Given the description of an element on the screen output the (x, y) to click on. 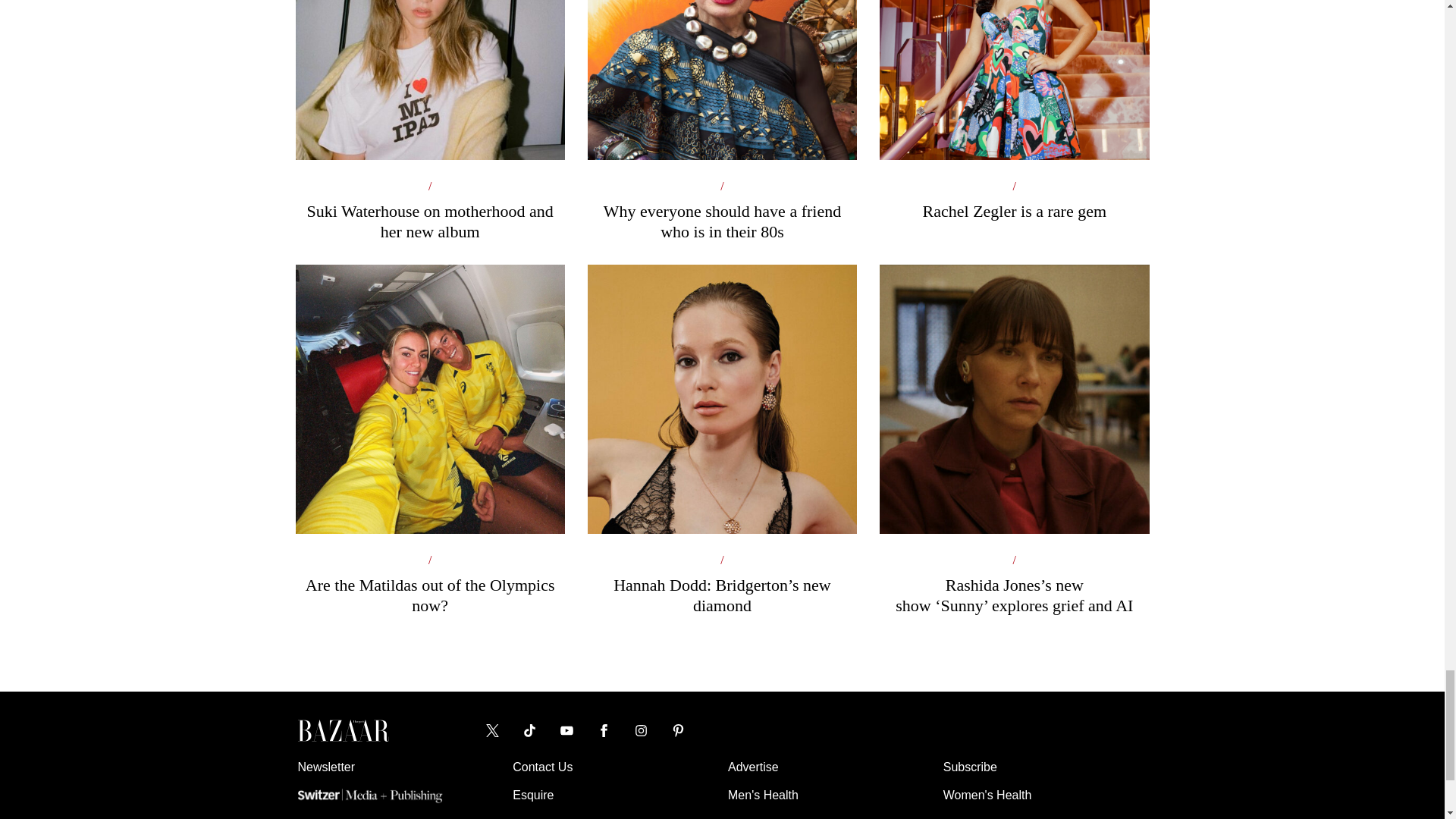
Are the Matildas out of the Olympics now? (429, 503)
Rachel Zegler is a rare gem (1013, 119)
Suki Waterhouse on motherhood and her new album (429, 129)
Why everyone should have a friend who is in their 80s (722, 129)
Why everyone should have a friend who is in their 80s (722, 129)
Suki Waterhouse on motherhood and her new album (429, 129)
Rachel Zegler is a rare gem (1013, 119)
